Given the description of an element on the screen output the (x, y) to click on. 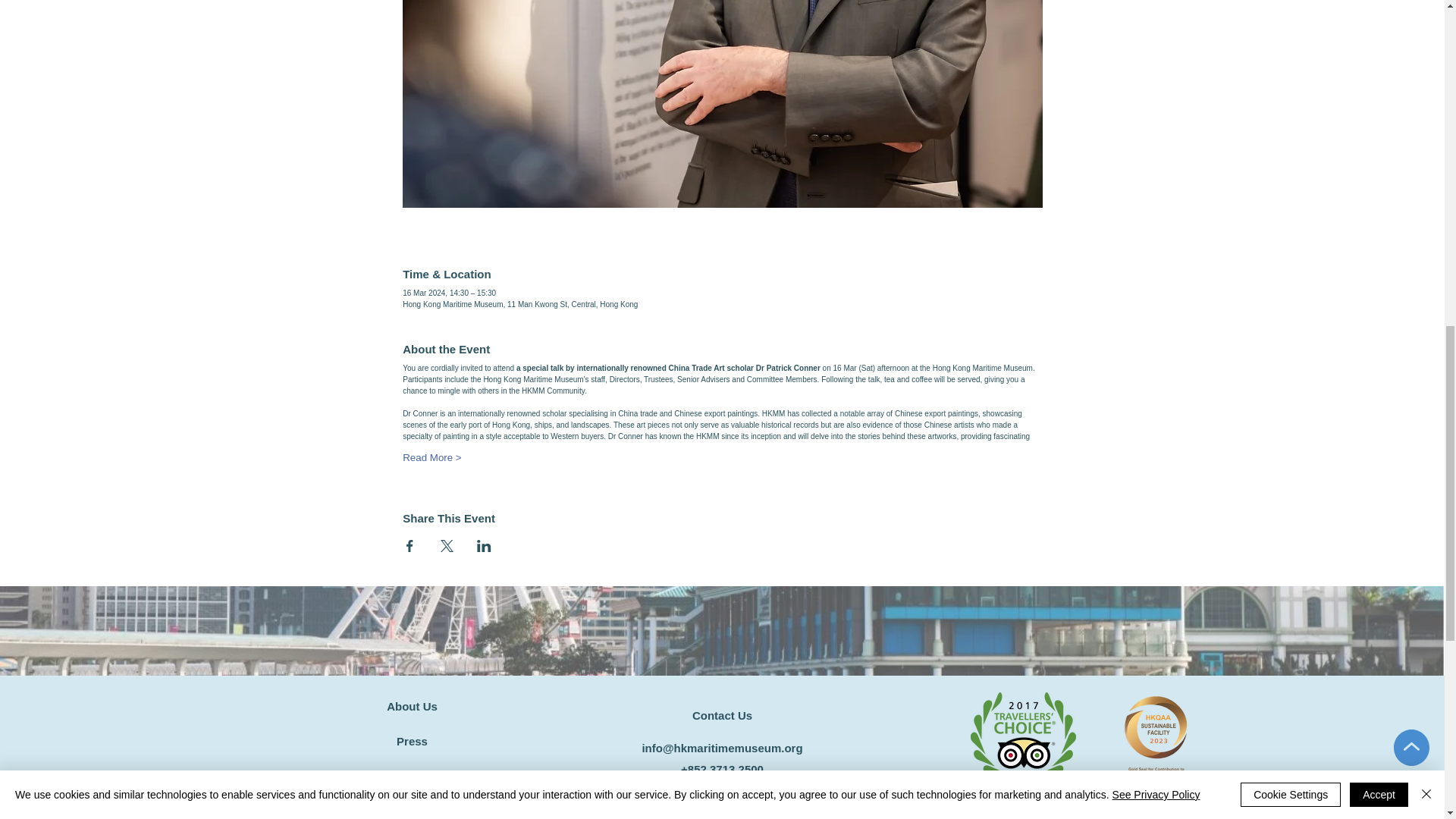
Job Opportunities (411, 777)
Press (411, 741)
About Us (411, 706)
